Given the description of an element on the screen output the (x, y) to click on. 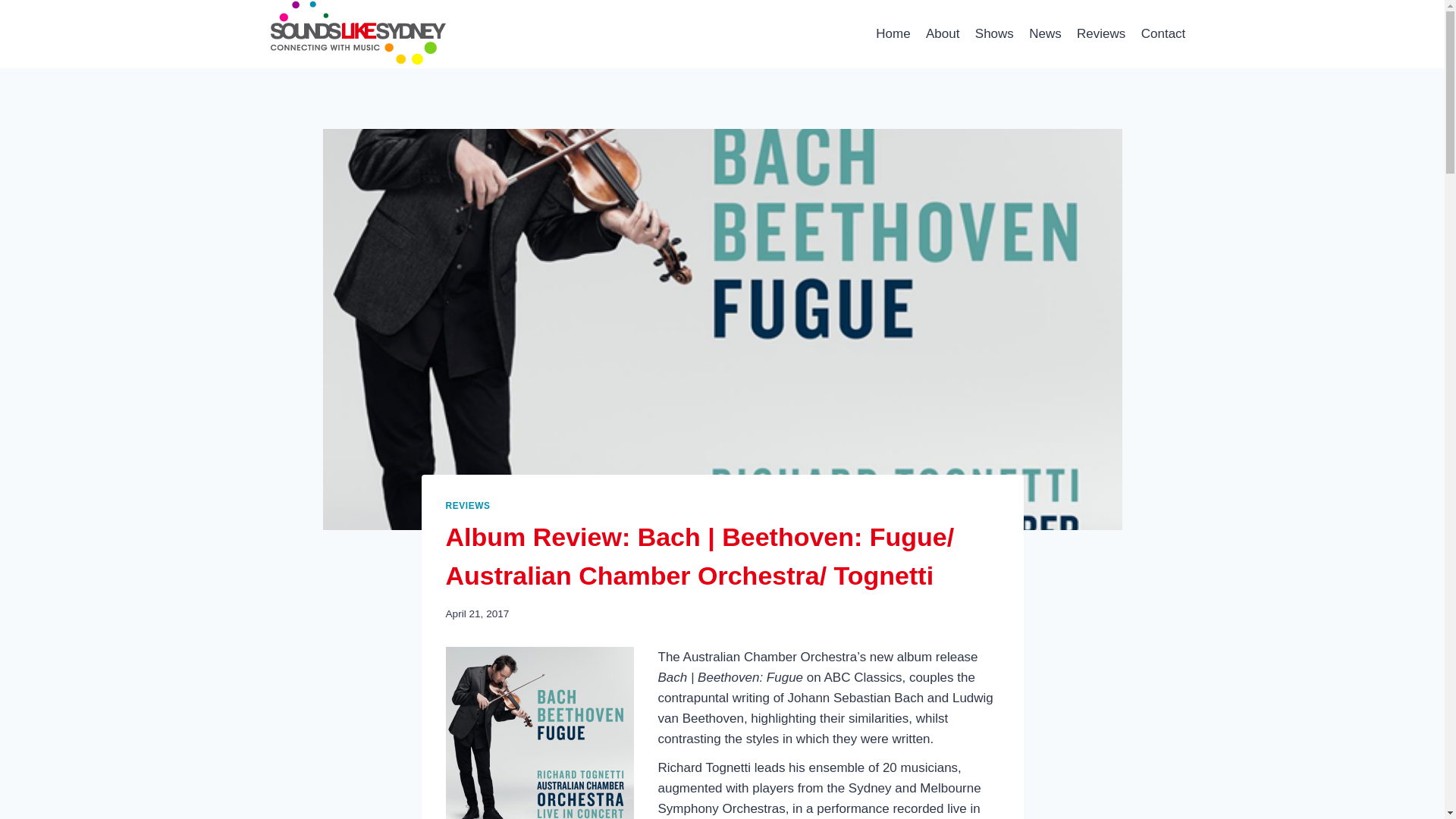
Home (892, 33)
Shows (995, 33)
Reviews (1101, 33)
Contact (1163, 33)
News (1045, 33)
REVIEWS (467, 505)
About (943, 33)
